Given the description of an element on the screen output the (x, y) to click on. 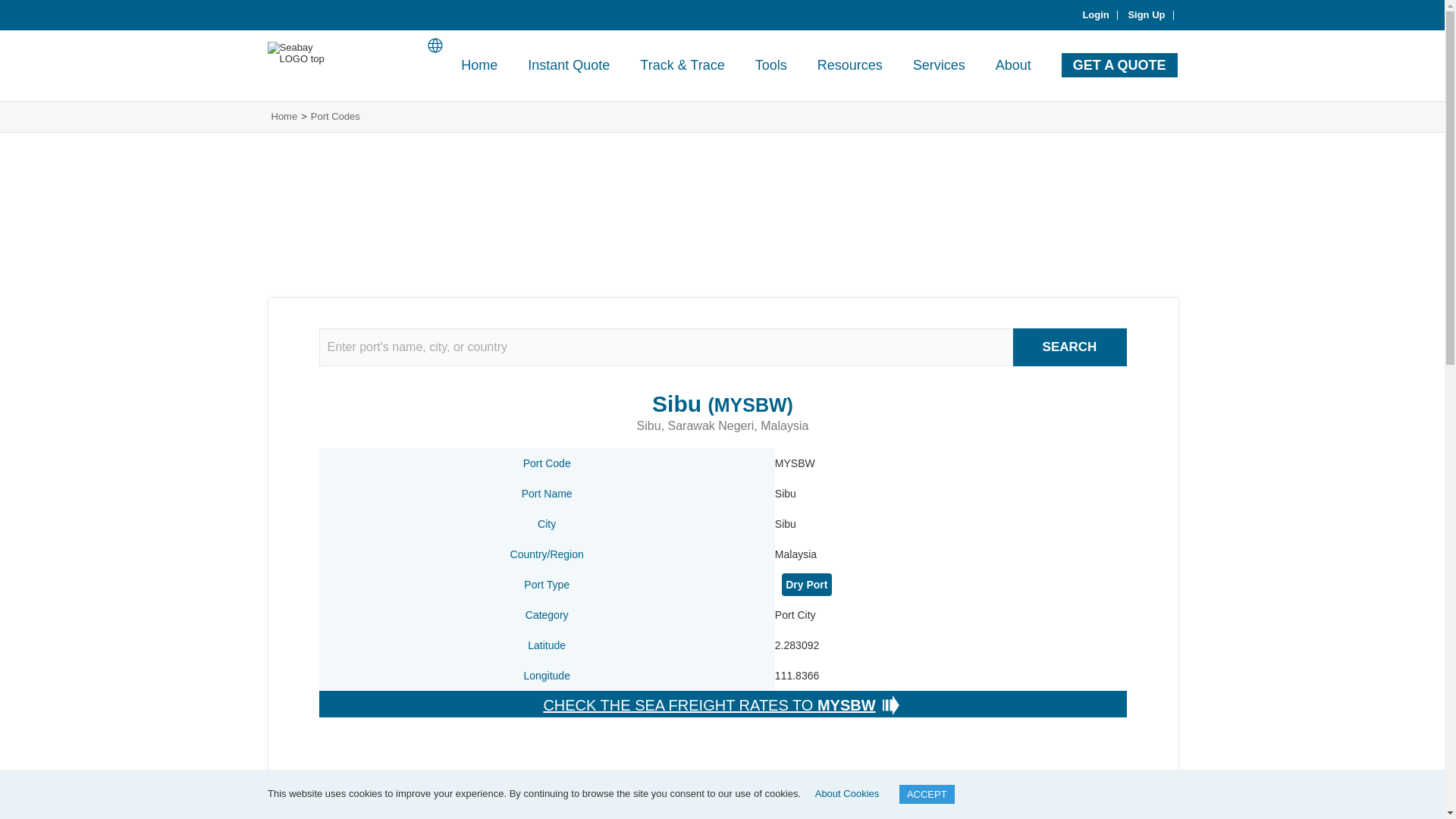
About (1012, 65)
Sign Up (1150, 15)
Resources (850, 65)
Home (478, 65)
Login (1099, 15)
Services (938, 65)
GET A QUOTE (1119, 64)
Instant Quote (568, 65)
Tools (770, 65)
